Given the description of an element on the screen output the (x, y) to click on. 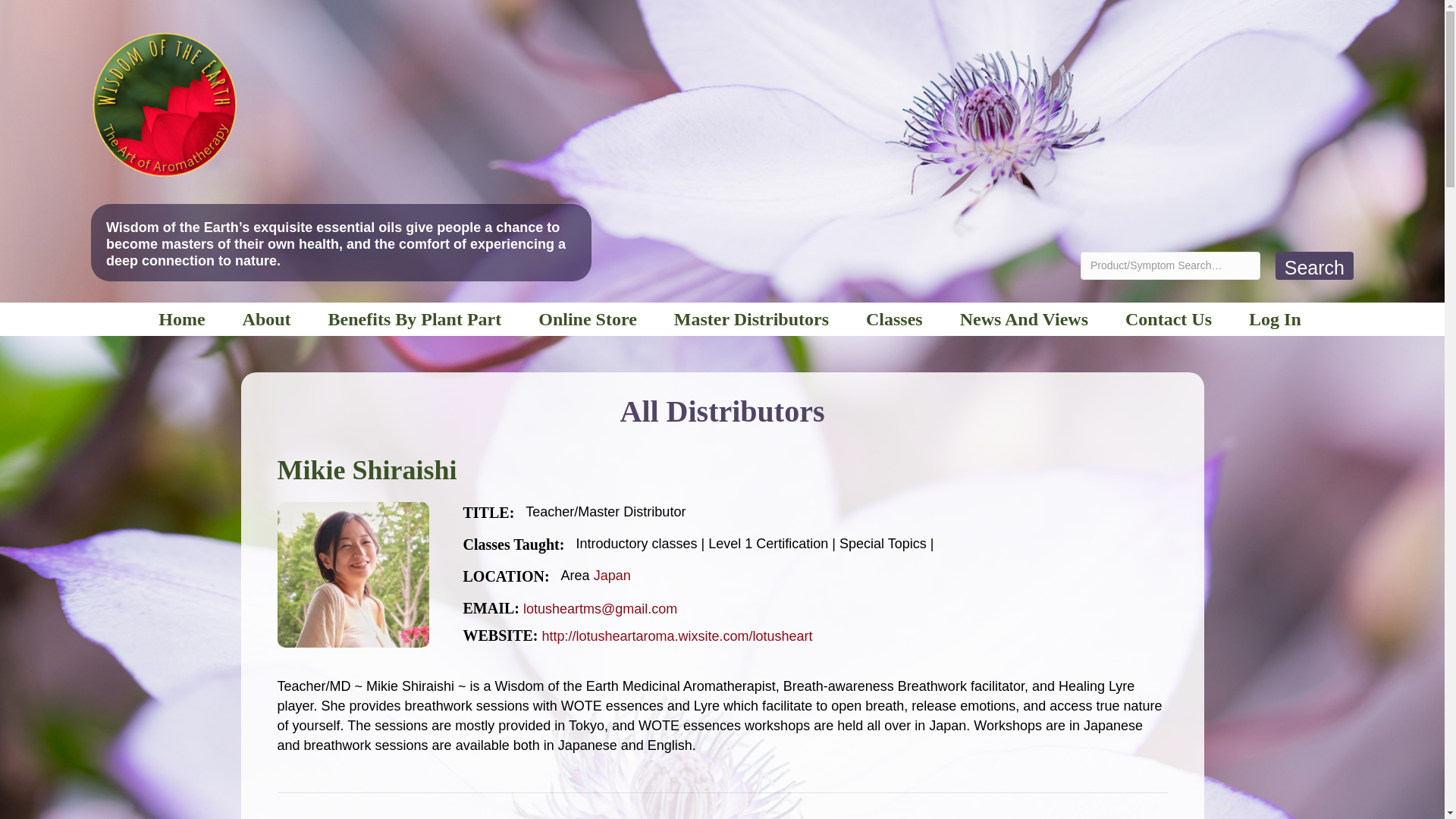
Master Distributors (751, 318)
About (266, 318)
Benefits By Plant Part (414, 318)
Home (181, 318)
Search (1314, 265)
Classes (894, 318)
Online Store (587, 318)
